Given the description of an element on the screen output the (x, y) to click on. 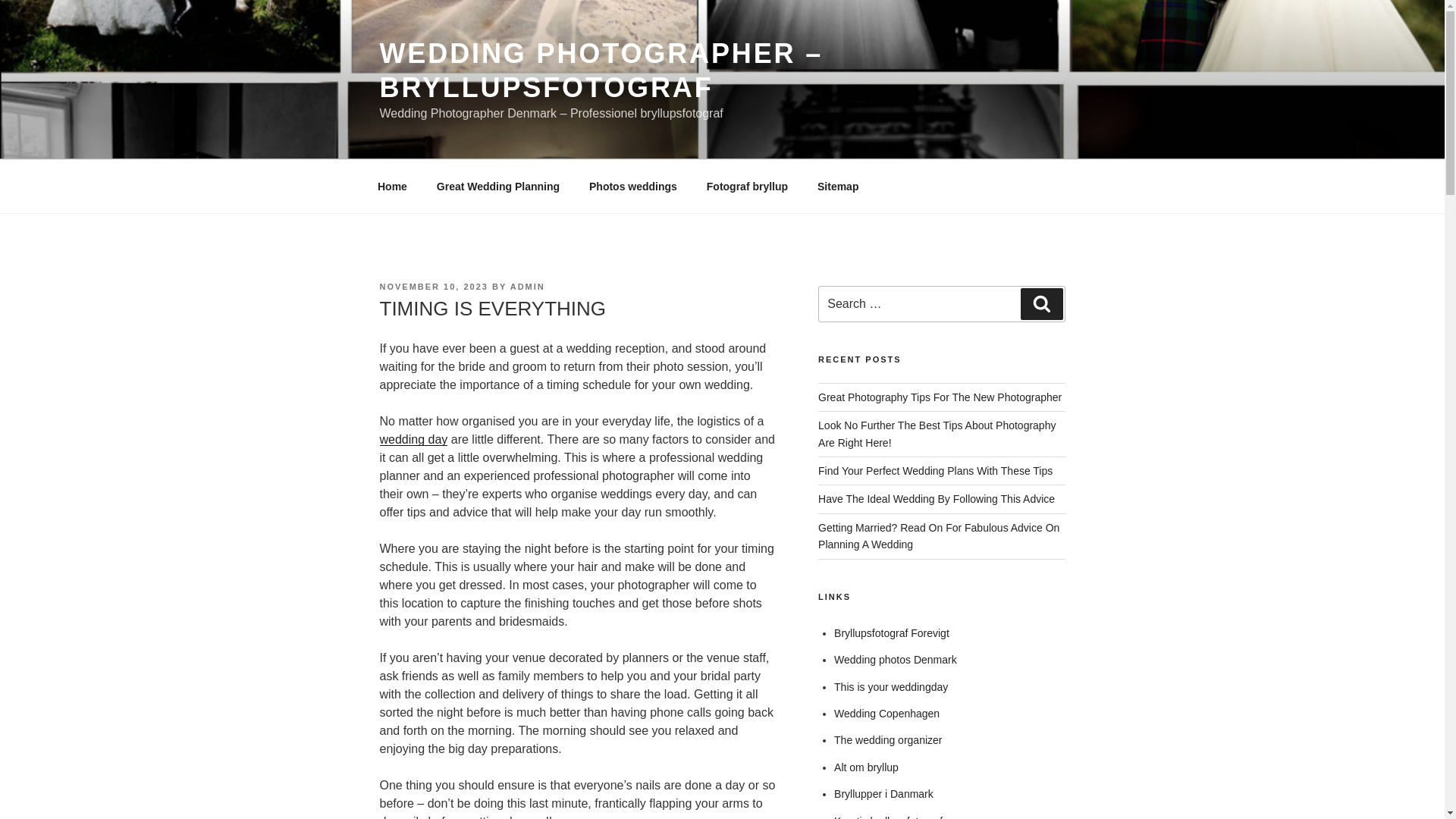
Home (392, 186)
Sitemap (836, 186)
Search (1041, 304)
Photos weddings (633, 186)
This is your weddingday (890, 686)
Have The Ideal Wedding By Following This Advice (936, 499)
Kreativ bryllupsfotograf (888, 816)
Bryllupsfotograf Forevigt (891, 633)
Fotograf bryllup (746, 186)
wedding day (412, 439)
The wedding organizer (888, 739)
Wedding photos Denmark (895, 659)
Alt om bryllup (866, 767)
